Given the description of an element on the screen output the (x, y) to click on. 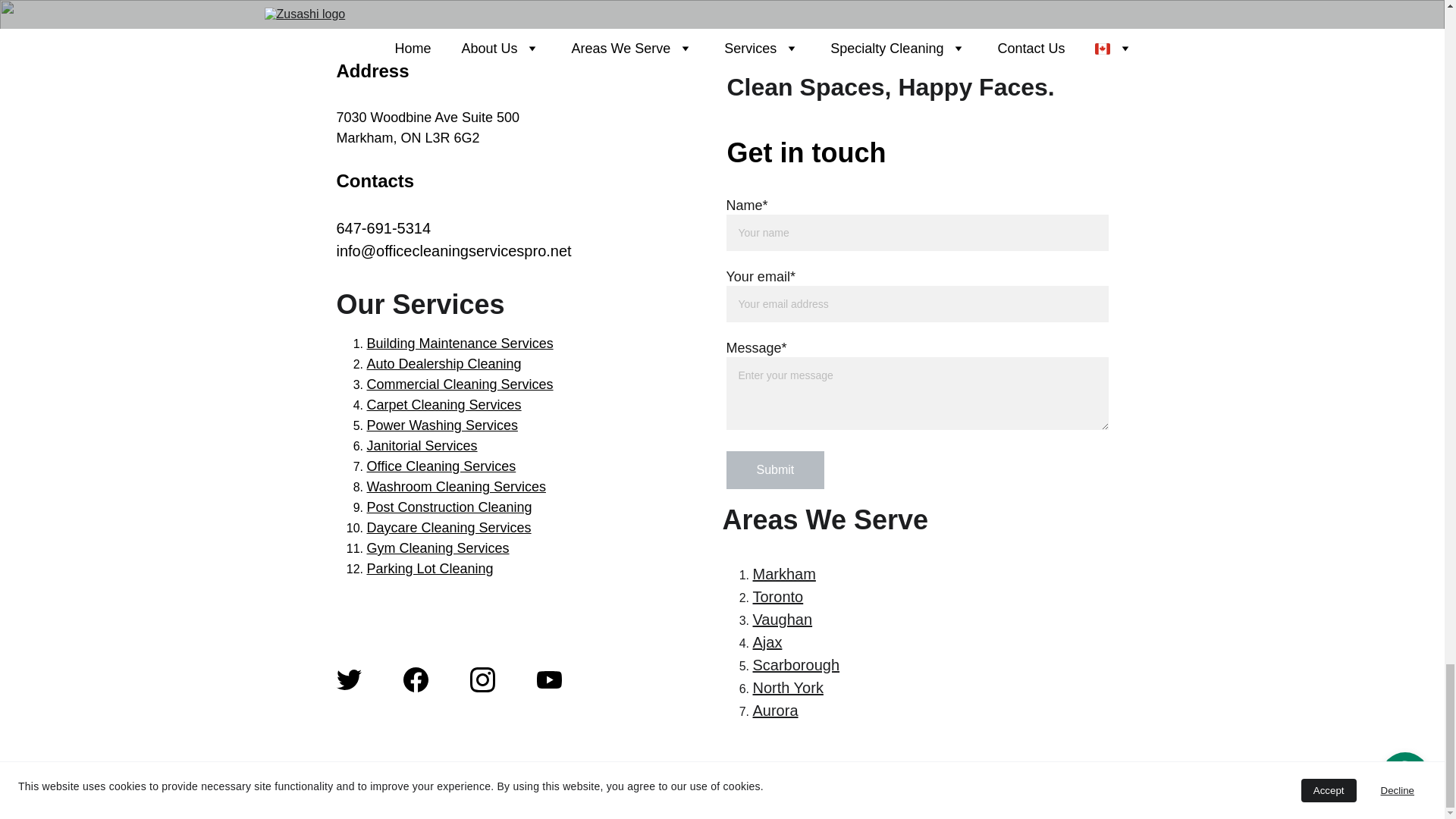
Go to Youtube page (549, 679)
Go to Instagram page (482, 679)
Go to Facebook page (415, 679)
Go to Twitter page (348, 679)
